Given the description of an element on the screen output the (x, y) to click on. 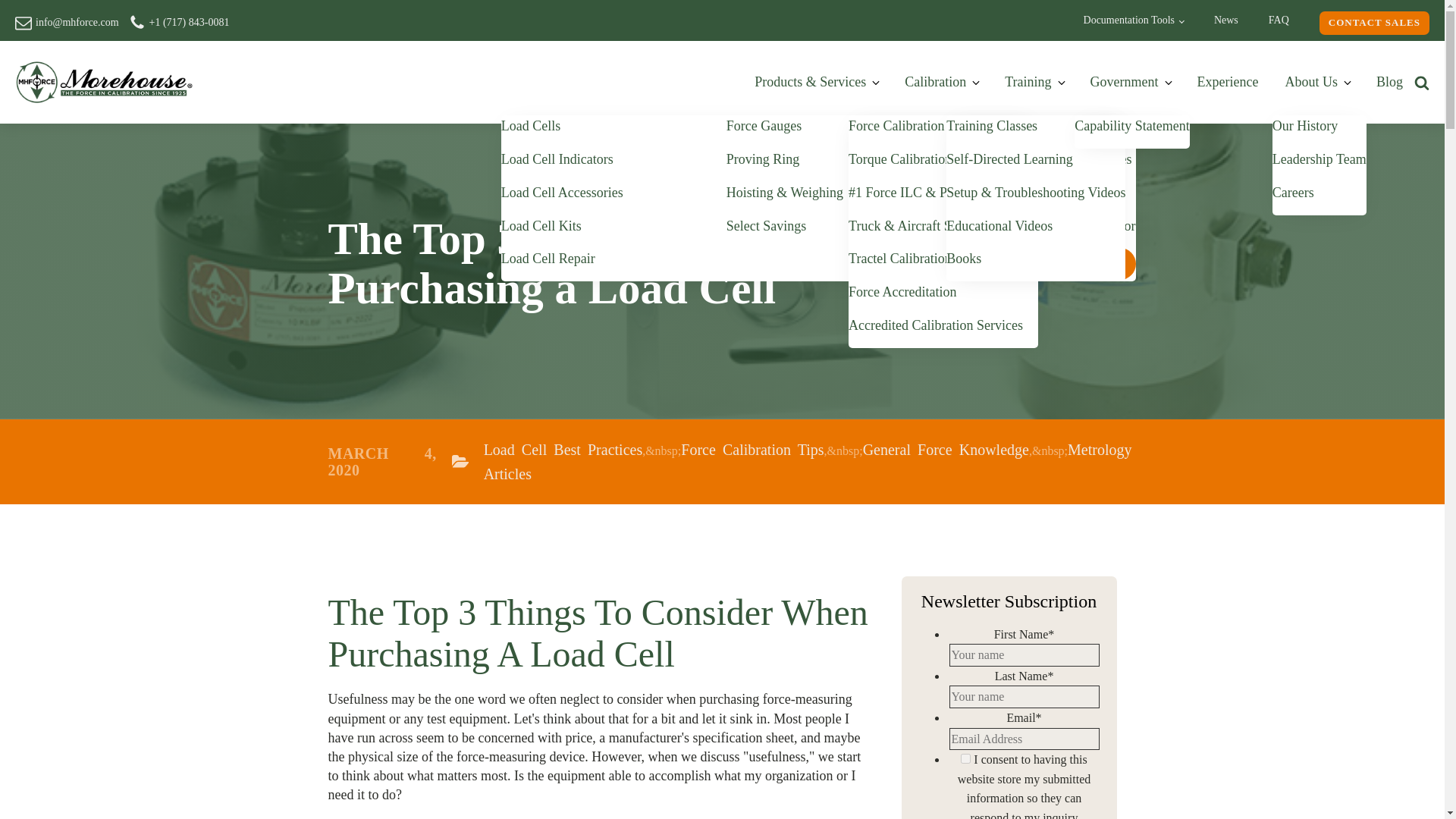
Educational Videos (999, 226)
Force Calibrating Machines (1027, 126)
CONTACT SALES (1374, 23)
Torque Calibration (900, 159)
Books (963, 259)
Load Cells (530, 126)
Proving Ring (762, 159)
Load Cell Indicators (556, 159)
Capability Statement (1131, 126)
Load Cell Kits (540, 226)
